Given the description of an element on the screen output the (x, y) to click on. 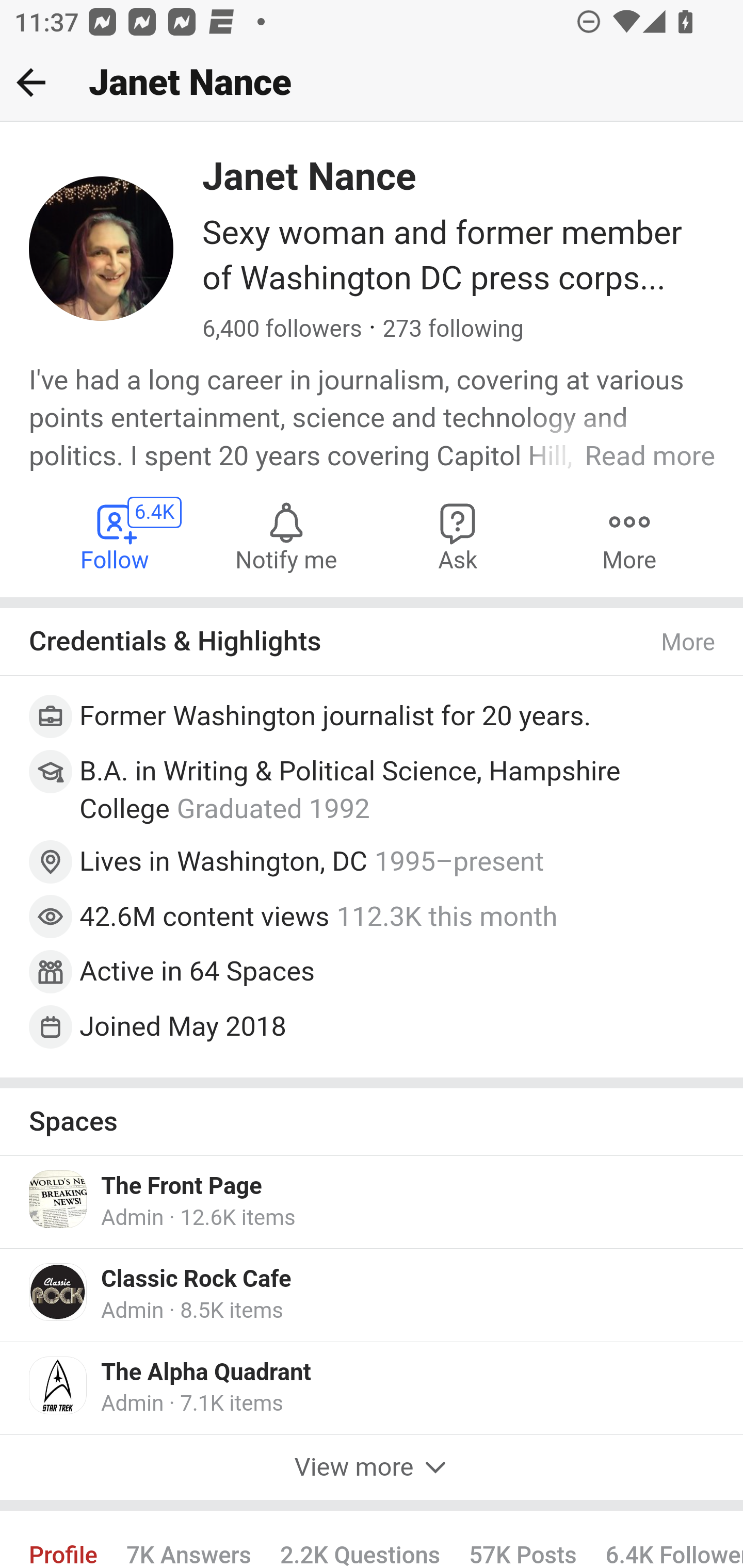
Back (30, 82)
6,400 followers (282, 329)
273 following (452, 329)
Follow Janet Nance 6.4K Follow (115, 536)
Notify me (285, 536)
Ask (458, 536)
More (628, 536)
More (688, 642)
Icon for The Front Page (58, 1199)
The Front Page (182, 1186)
Icon for Classic Rock Cafe (58, 1291)
Classic Rock Cafe (196, 1279)
Icon for The Alpha Quadrant (58, 1384)
The Alpha Quadrant (206, 1372)
View more (371, 1466)
Profile (63, 1538)
7K Answers (188, 1538)
2.2K Questions (360, 1538)
57K Posts (522, 1538)
6.4K Followers (666, 1538)
